Given the description of an element on the screen output the (x, y) to click on. 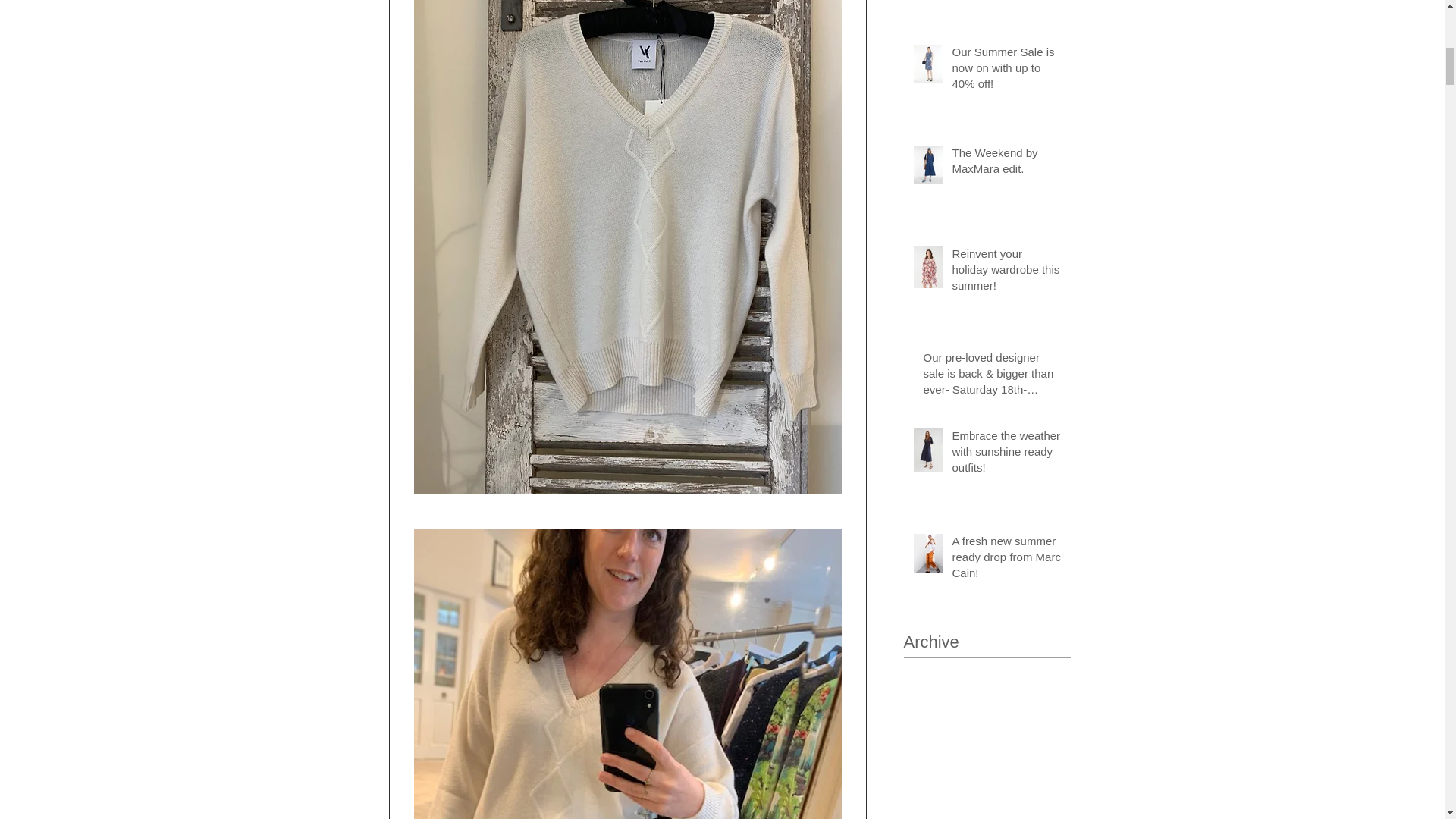
The Weekend by MaxMara edit. (1006, 163)
Embrace the weather with sunshine ready outfits! (1006, 454)
Reinvent your holiday wardrobe this summer! (1006, 272)
A fresh new summer ready drop from Marc Cain! (1006, 560)
